Given the description of an element on the screen output the (x, y) to click on. 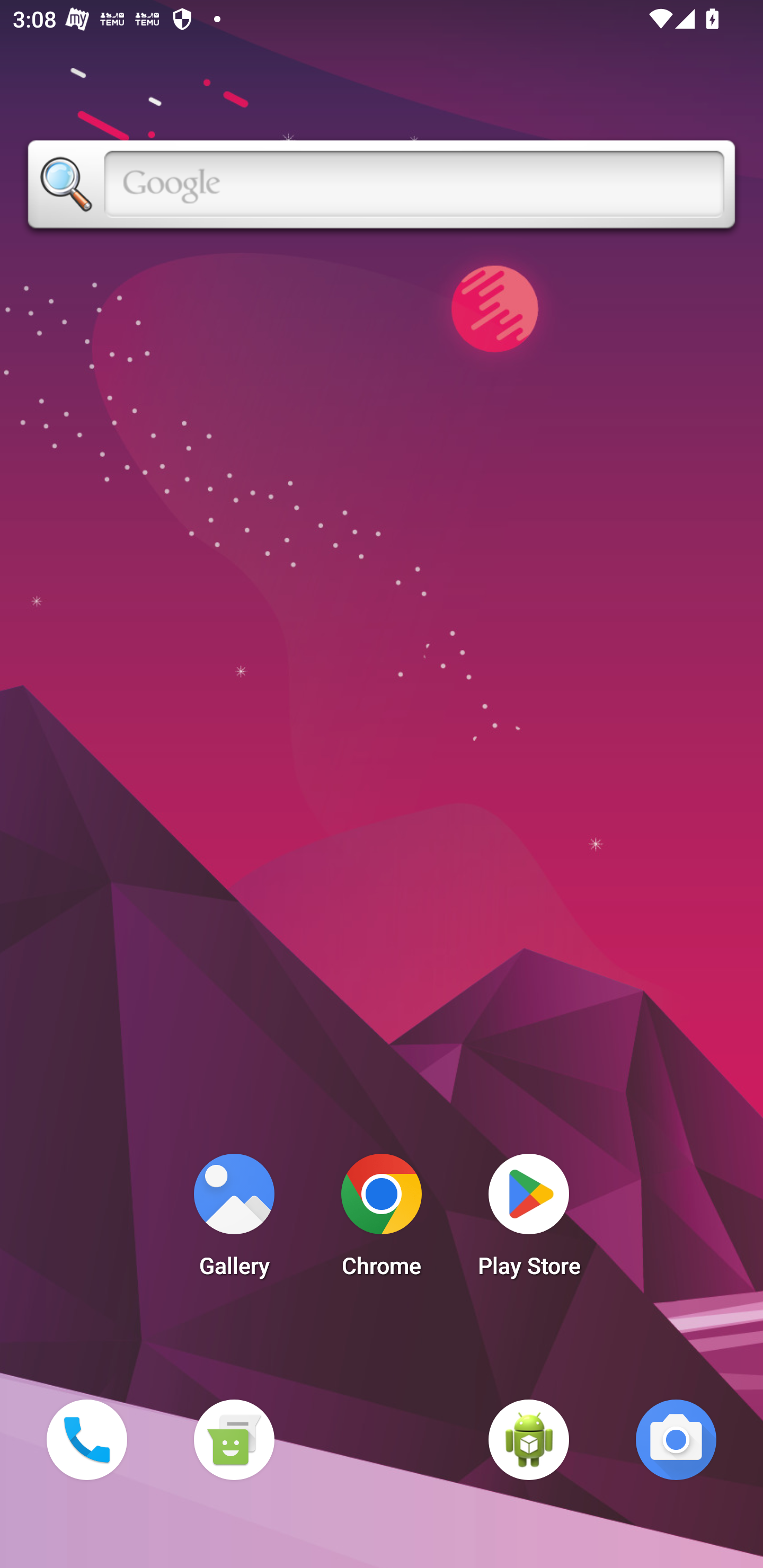
Gallery (233, 1220)
Chrome (381, 1220)
Play Store (528, 1220)
Phone (86, 1439)
Messaging (233, 1439)
WebView Browser Tester (528, 1439)
Camera (676, 1439)
